Given the description of an element on the screen output the (x, y) to click on. 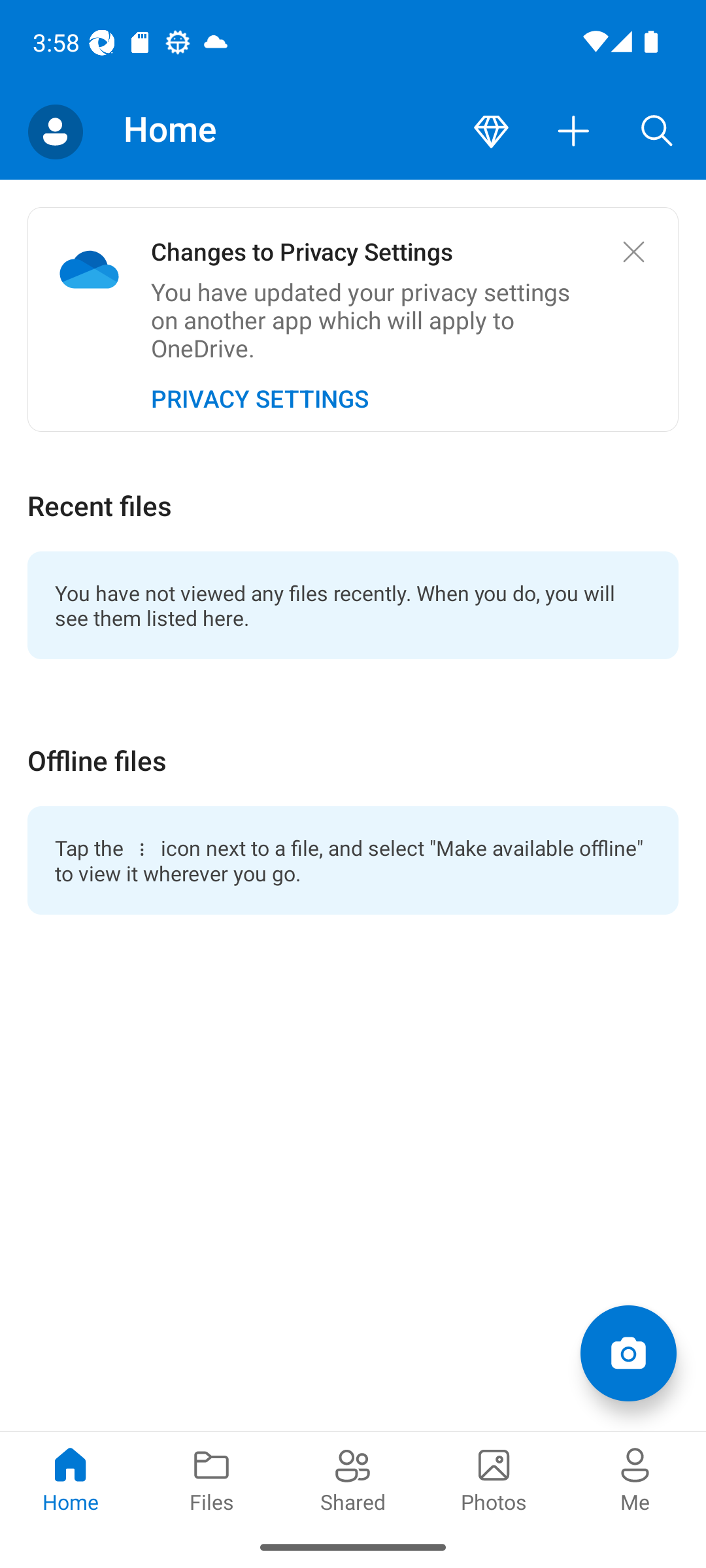
Account switcher (55, 131)
Premium button (491, 131)
More actions button (574, 131)
Search button (656, 131)
Close (633, 251)
PRIVACY SETTINGS (259, 398)
Scan (628, 1352)
Files pivot Files (211, 1478)
Shared pivot Shared (352, 1478)
Photos pivot Photos (493, 1478)
Me pivot Me (635, 1478)
